Given the description of an element on the screen output the (x, y) to click on. 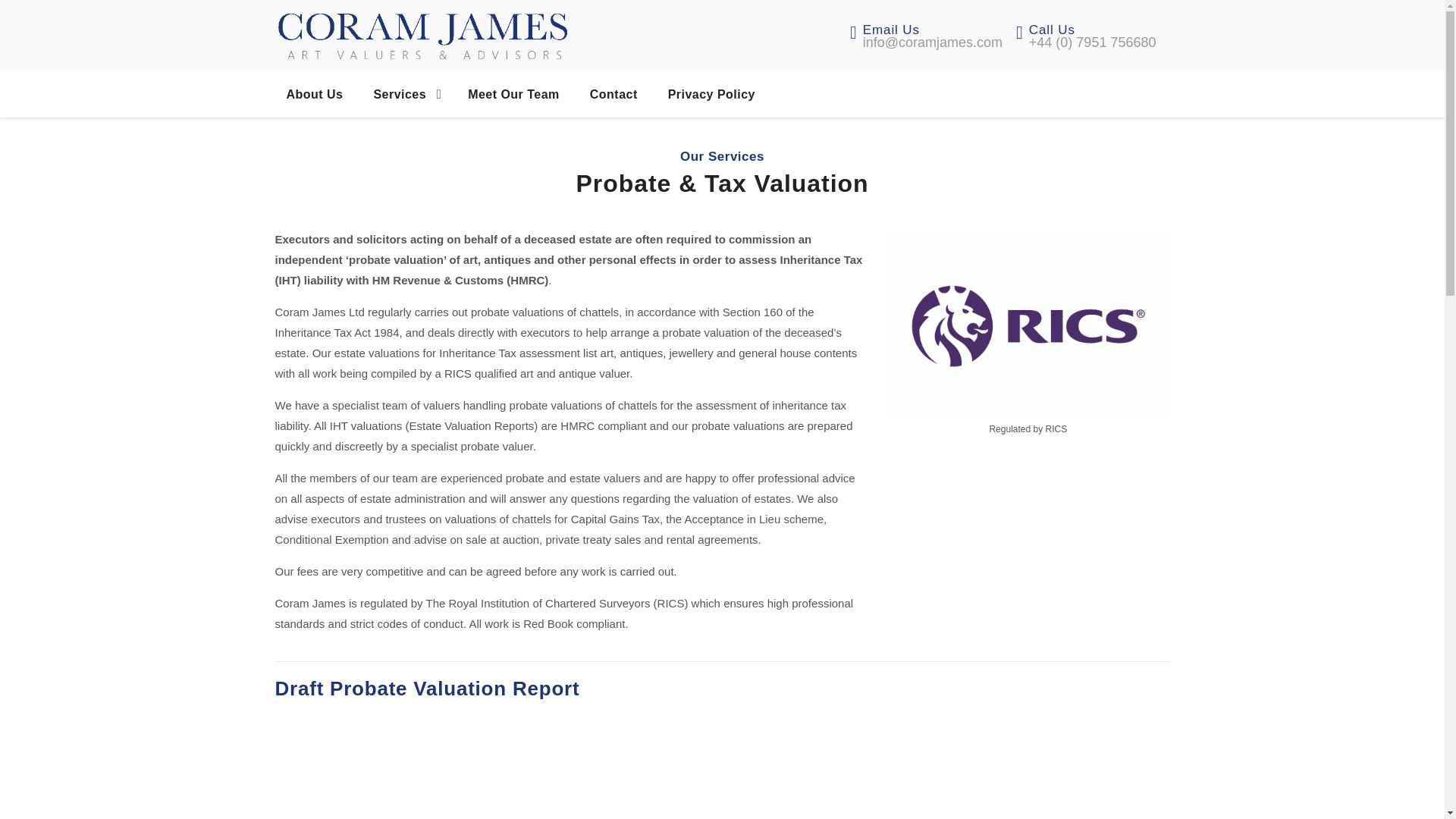
Privacy Policy (711, 94)
About Us (314, 94)
Contact (613, 94)
Meet Our Team (513, 94)
Services (399, 94)
